Given the description of an element on the screen output the (x, y) to click on. 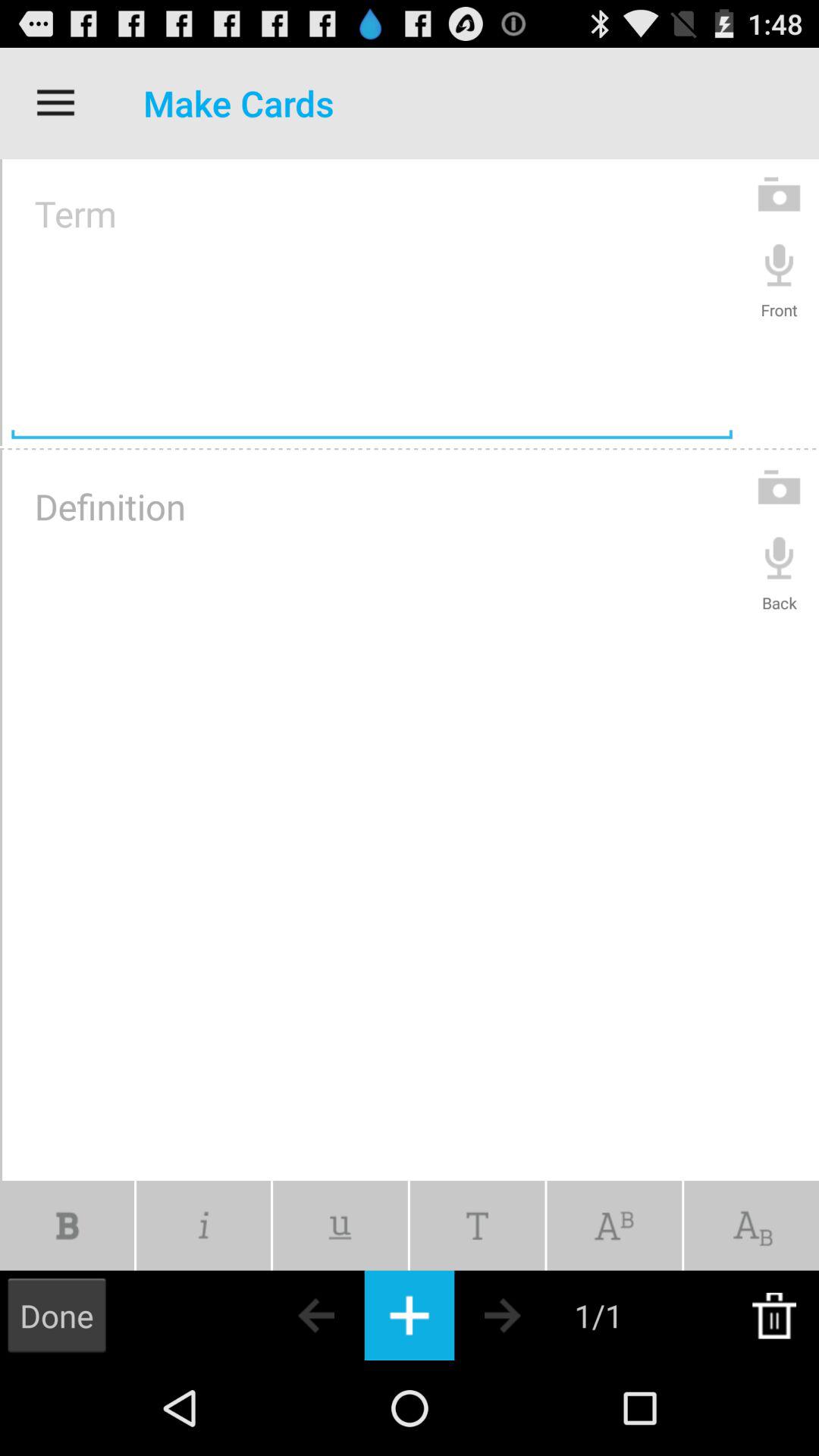
open camera (779, 487)
